Given the description of an element on the screen output the (x, y) to click on. 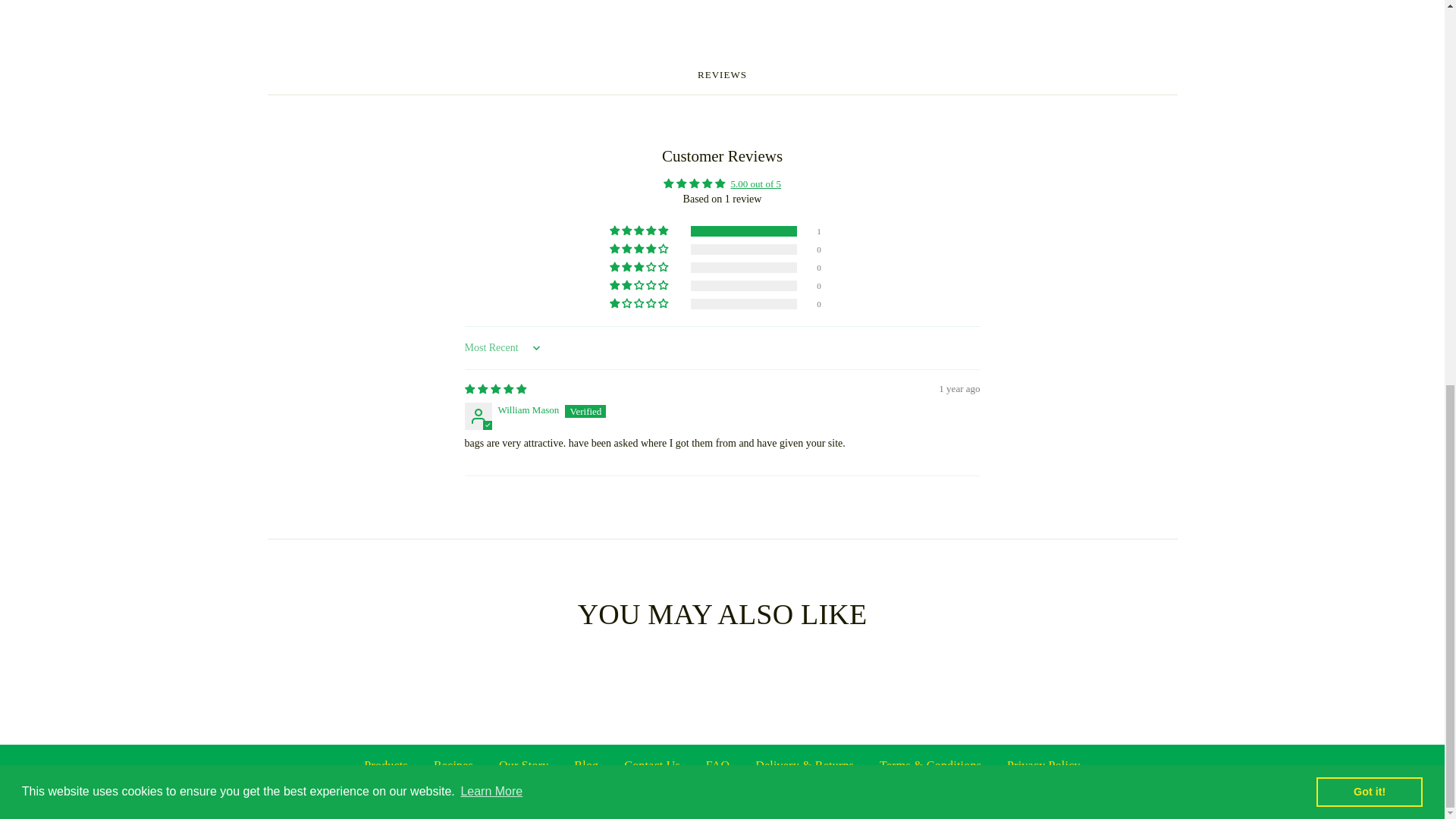
Got it! (1369, 67)
Learn More (491, 67)
